Given the description of an element on the screen output the (x, y) to click on. 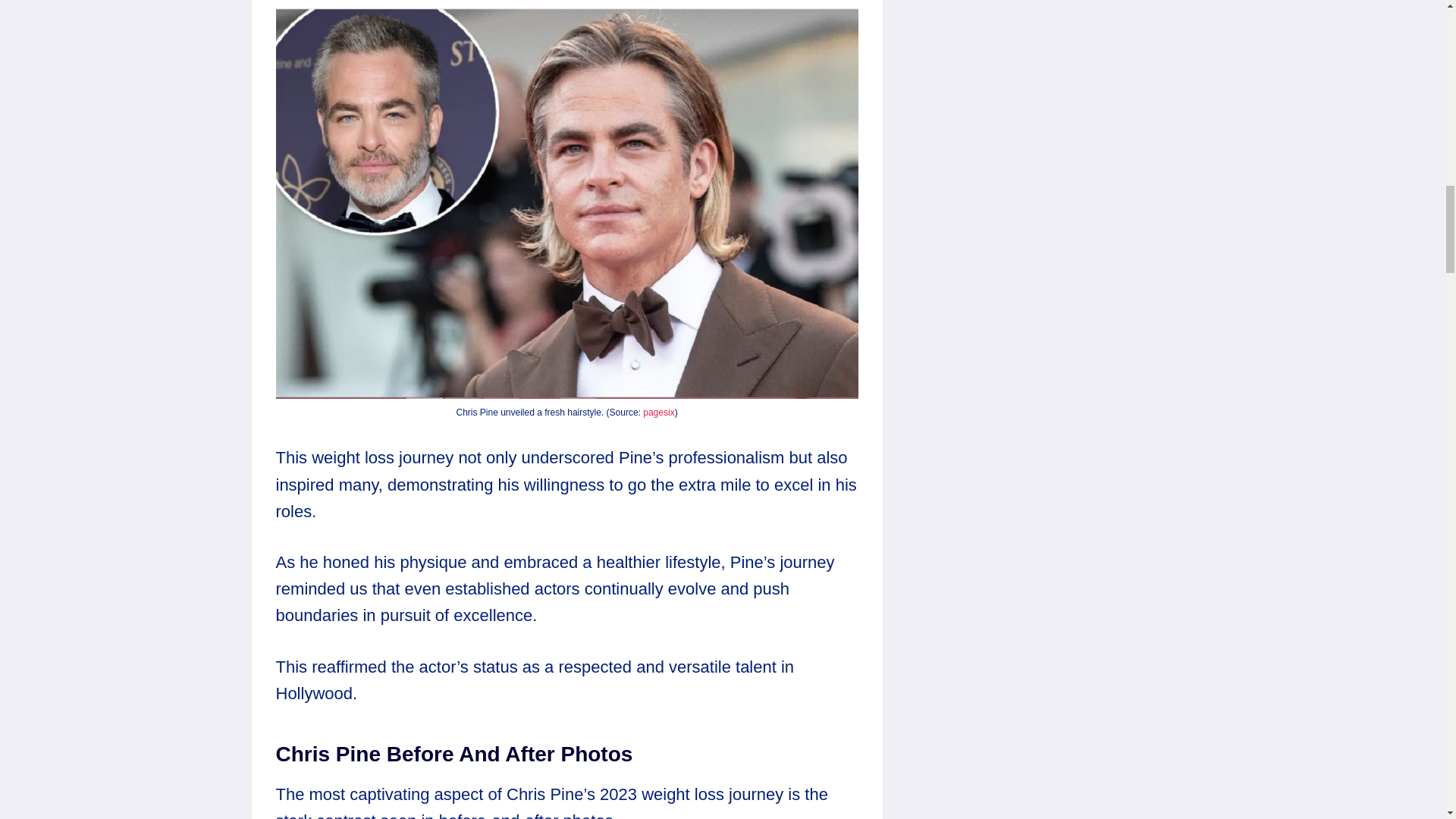
pagesix (658, 412)
